Given the description of an element on the screen output the (x, y) to click on. 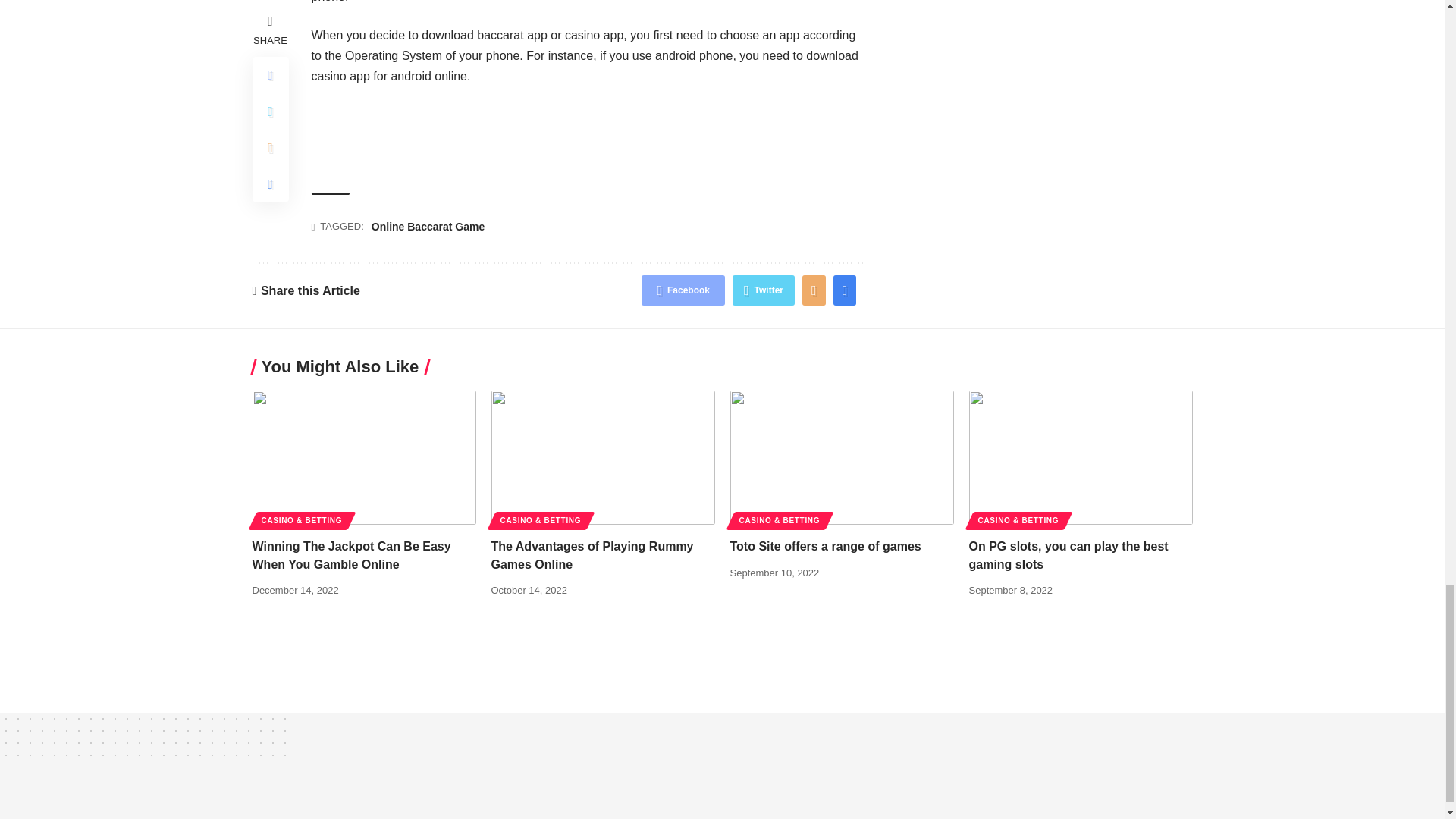
Toto Site offers a range of games (841, 457)
The Advantages of Playing Rummy Games Online (603, 457)
Winning The Jackpot Can Be Easy When You Gamble Online (363, 457)
On PG slots, you can play the best gaming slots (1080, 457)
